Given the description of an element on the screen output the (x, y) to click on. 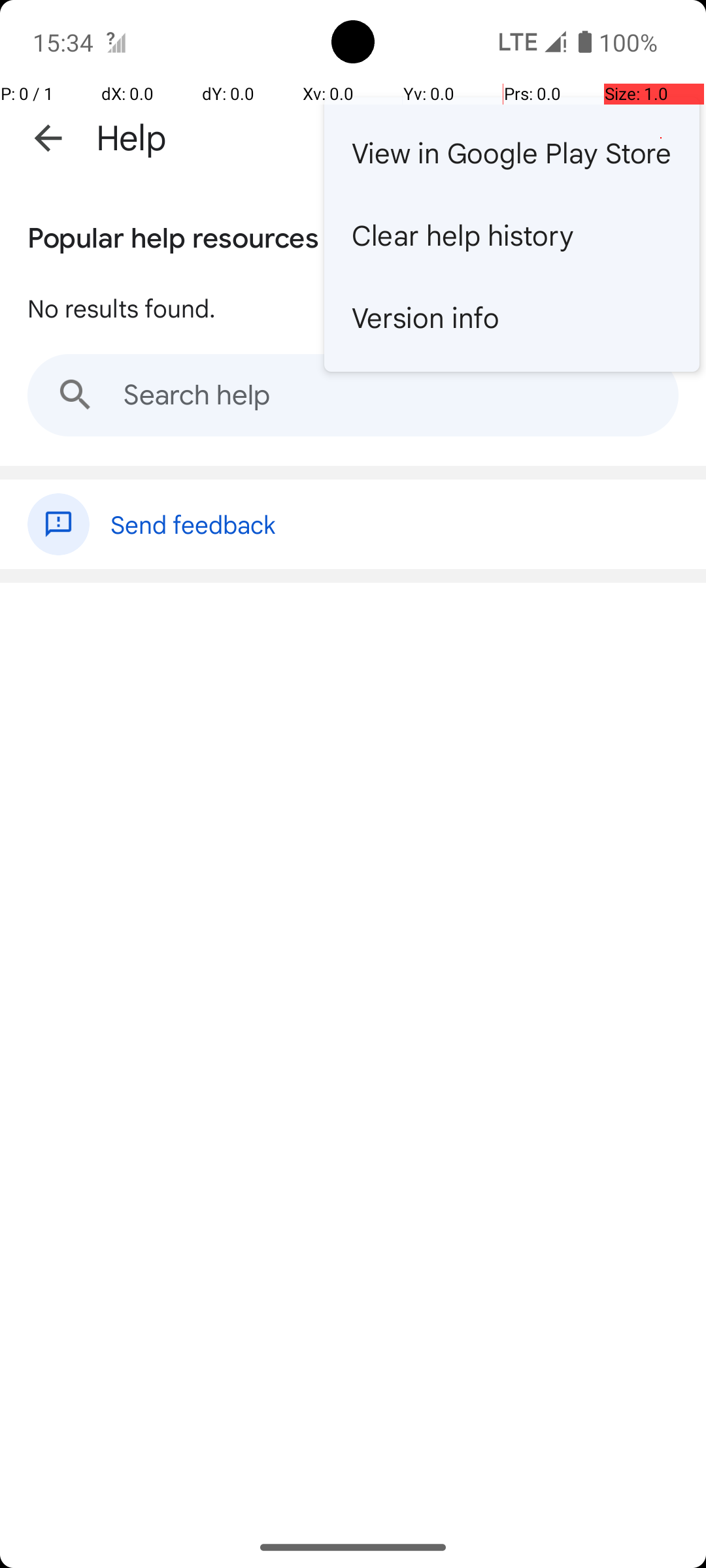
View in Google Play Store Element type: android.widget.TextView (511, 151)
Clear help history Element type: android.widget.TextView (511, 234)
Version info Element type: android.widget.TextView (511, 316)
